Given the description of an element on the screen output the (x, y) to click on. 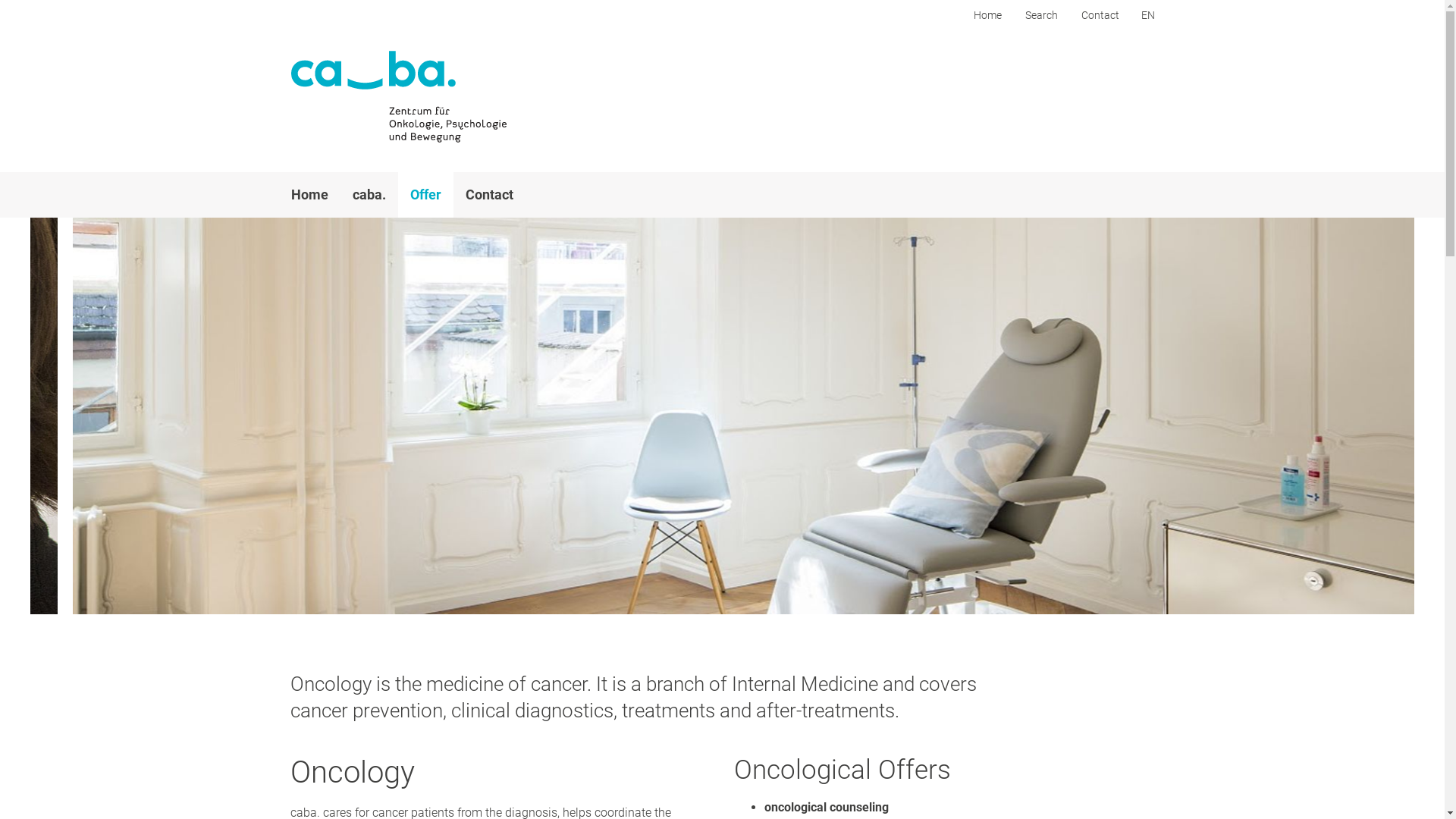
Contact Element type: text (489, 194)
caba. Element type: text (368, 194)
 Search Element type: text (1039, 15)
Home Element type: hover (398, 96)
EN Element type: text (1147, 15)
Offer Element type: text (424, 194)
 Home Element type: text (985, 15)
 Contact Element type: text (1098, 15)
Home Element type: text (309, 194)
